Given the description of an element on the screen output the (x, y) to click on. 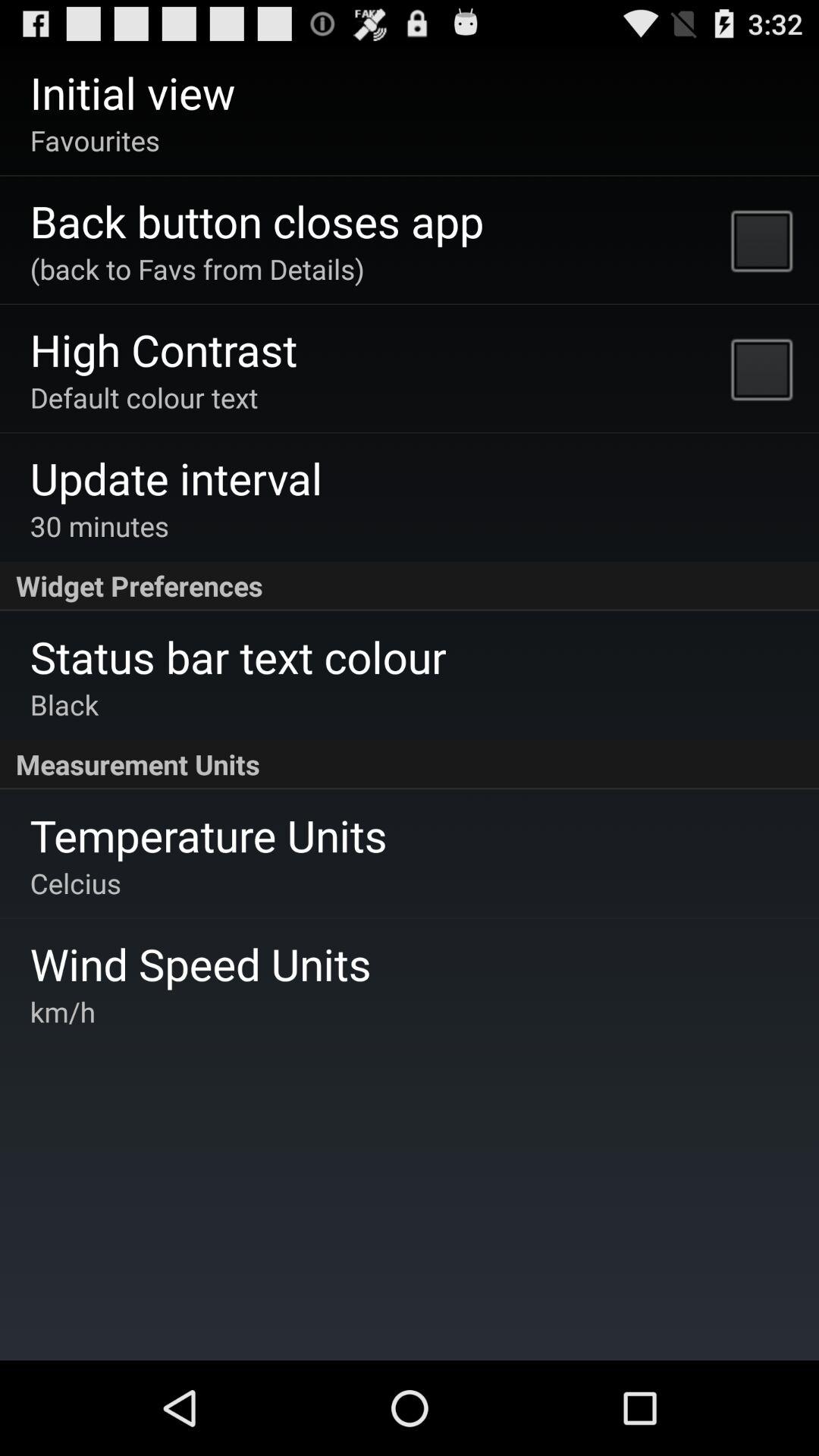
open app above the high contrast app (197, 268)
